Given the description of an element on the screen output the (x, y) to click on. 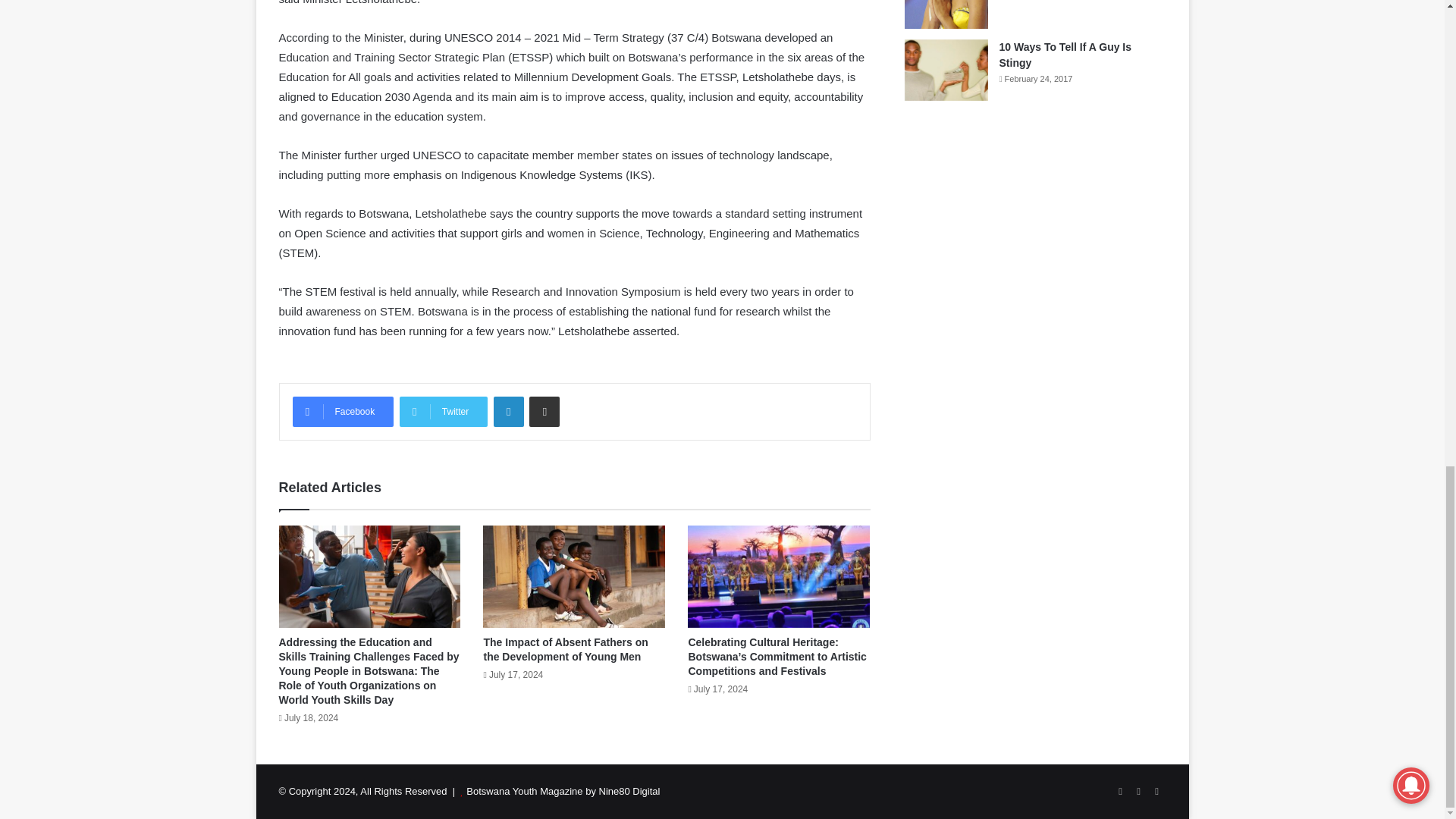
LinkedIn (508, 411)
Facebook (343, 411)
Facebook (343, 411)
Share via Email (544, 411)
Share via Email (544, 411)
Twitter (442, 411)
LinkedIn (508, 411)
Twitter (442, 411)
